Given the description of an element on the screen output the (x, y) to click on. 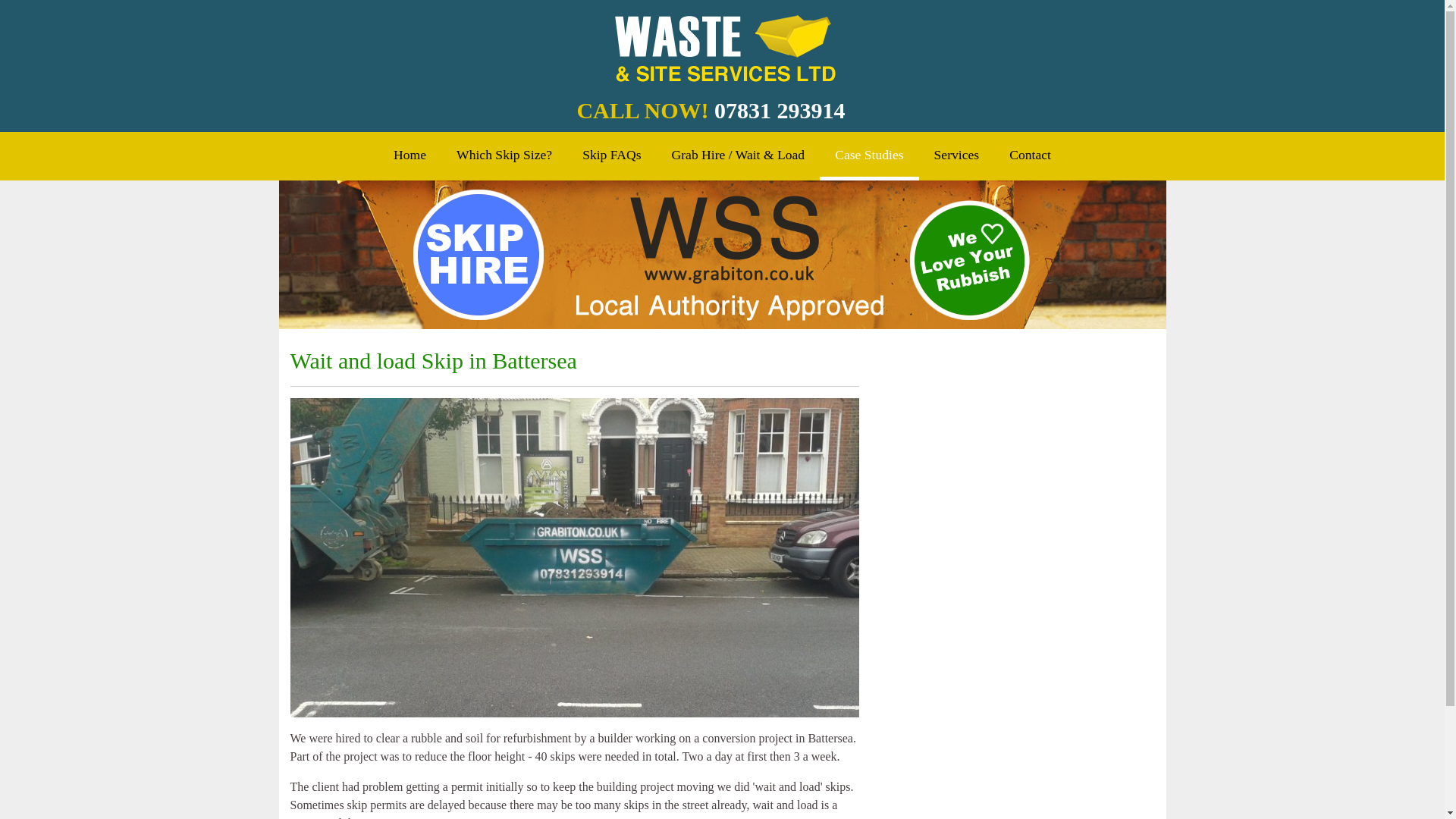
Home (409, 153)
Services (956, 153)
Skip FAQs (611, 153)
Contact (1029, 153)
Case Studies (868, 155)
Which Skip Size? (504, 153)
